Given the description of an element on the screen output the (x, y) to click on. 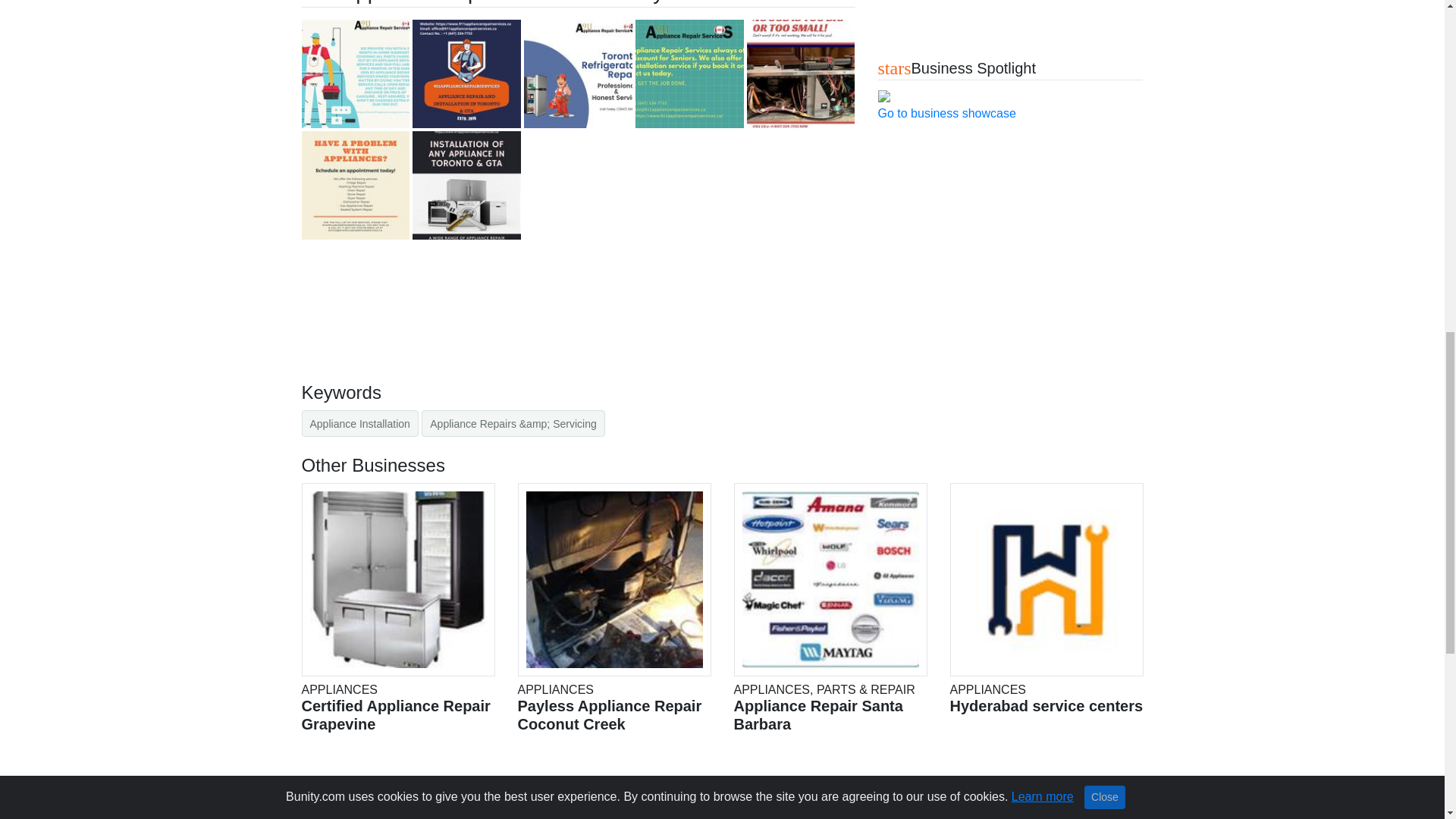
Appliance Installation (360, 423)
Go to business showcase (946, 113)
